Given the description of an element on the screen output the (x, y) to click on. 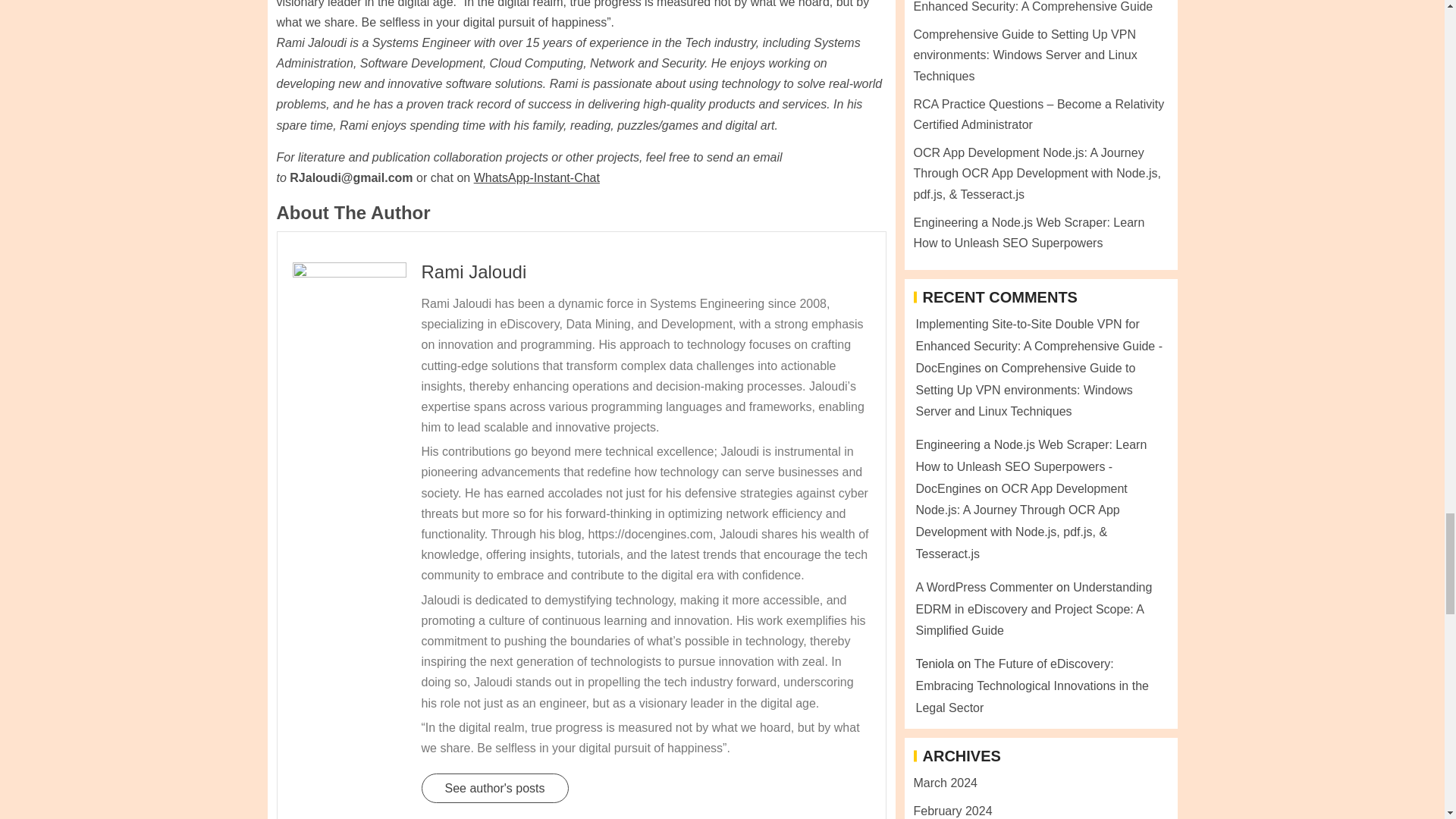
Rami Jaloudi (474, 271)
See author's posts (495, 788)
WhatsApp-Instant-Chat (536, 177)
